Given the description of an element on the screen output the (x, y) to click on. 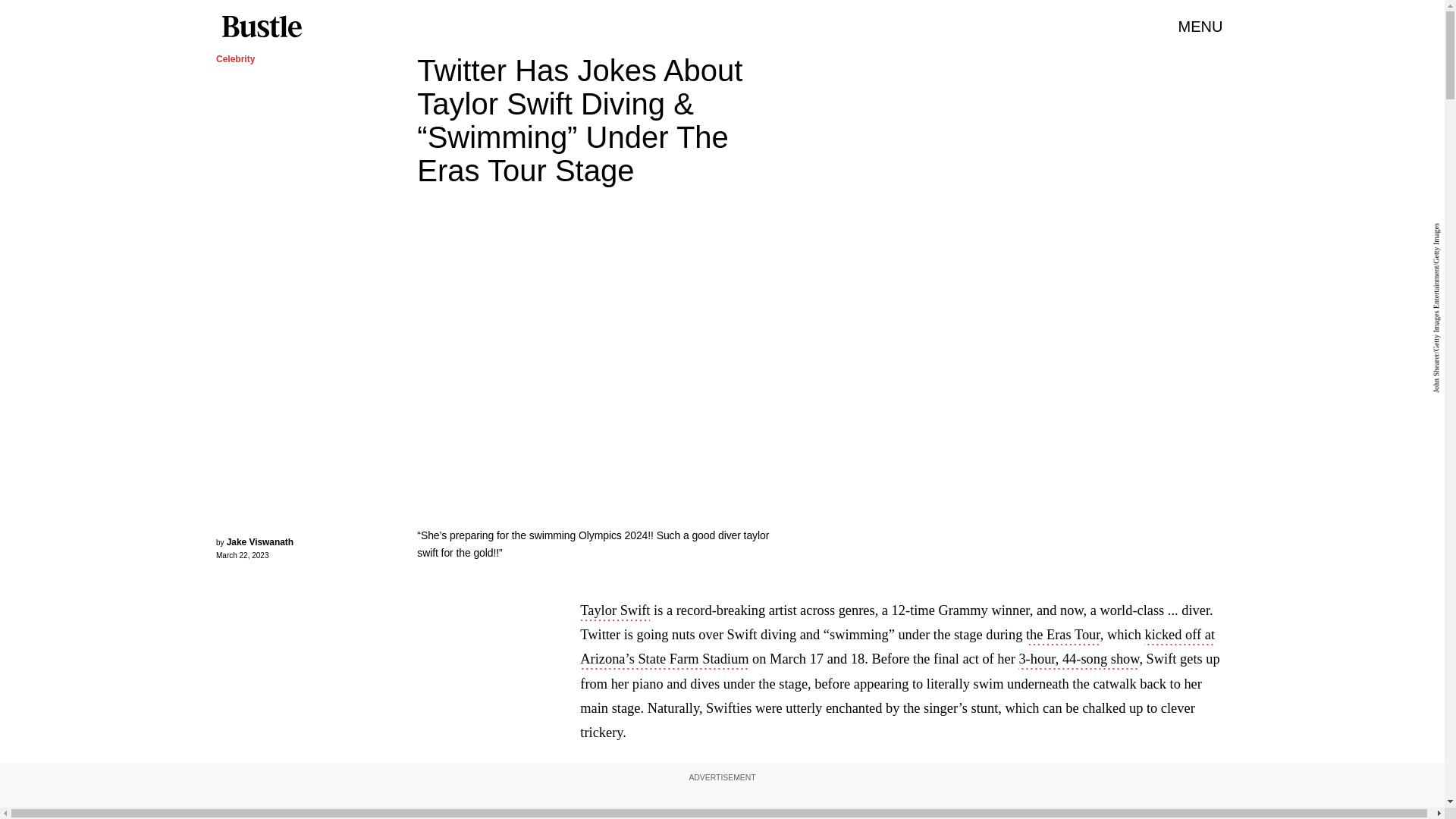
Bustle (261, 26)
Jake Viswanath (260, 542)
Taylor Swift (614, 611)
3-hour, 44-song show (1077, 660)
the Eras Tour (1063, 636)
